Given the description of an element on the screen output the (x, y) to click on. 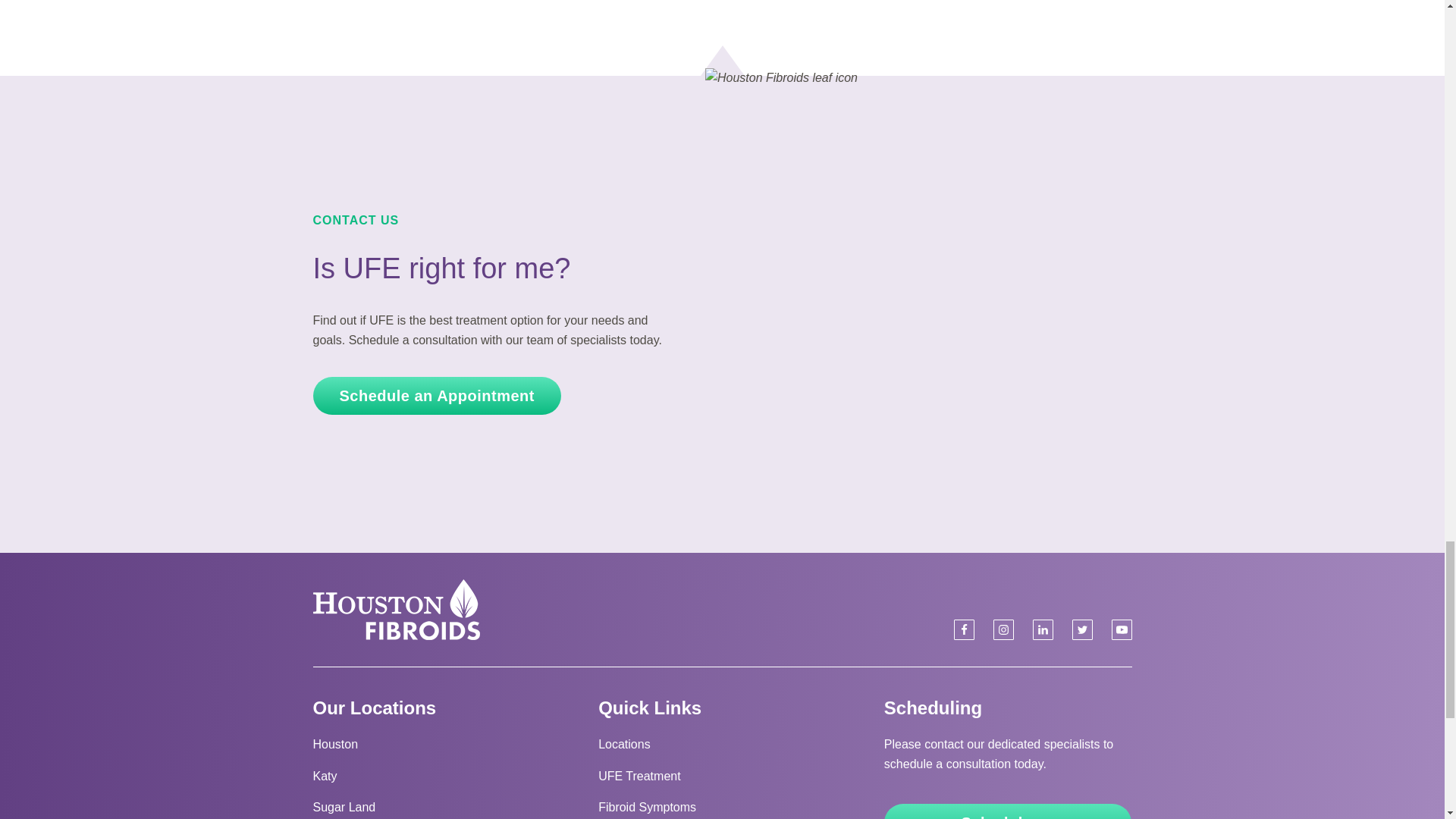
Sugar Land (344, 807)
Locations (624, 744)
Schedule an Appointment (436, 395)
Schedule an Appointment (1007, 811)
UFE Treatment (638, 775)
Visit our Instagram page (1002, 629)
Visit our Facebook page (963, 629)
Home (396, 609)
Houston (335, 744)
Visit our Youtube channel (1122, 629)
